Given the description of an element on the screen output the (x, y) to click on. 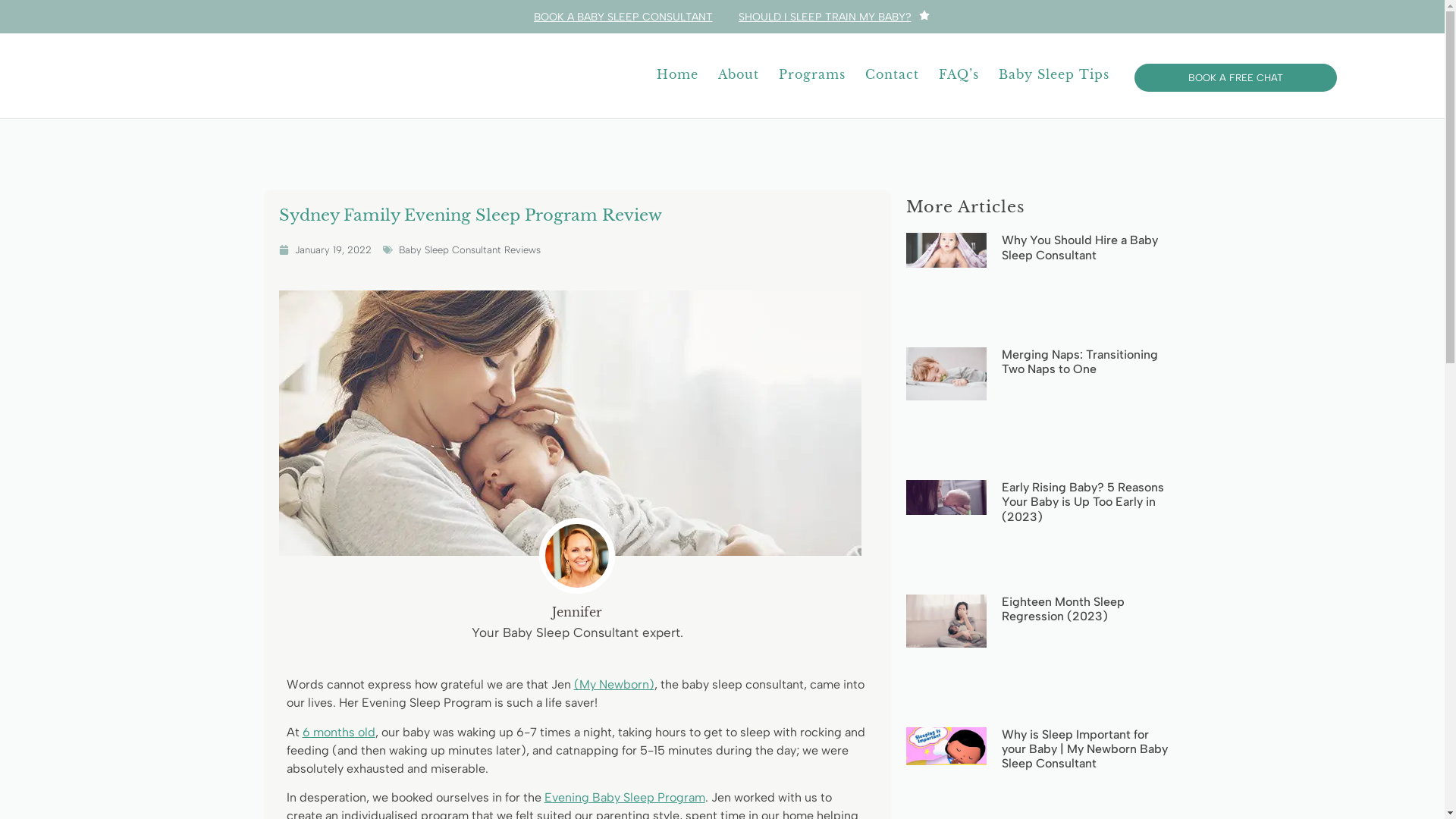
Evening Baby Sleep Program Element type: text (624, 797)
Home Element type: text (677, 74)
Contact Element type: text (891, 74)
SHOULD I SLEEP TRAIN MY BABY? Element type: text (824, 17)
(My Newborn) Element type: text (613, 684)
Eighteen Month Sleep Regression (2023) Element type: text (1062, 608)
January 19, 2022 Element type: text (325, 249)
Programs Element type: text (811, 74)
Baby Sleep Consultant Reviews Element type: text (469, 249)
6 months old Element type: text (337, 731)
Why You Should Hire a Baby Sleep Consultant Element type: text (1079, 246)
Baby Sleep Tips Element type: text (1053, 74)
About Element type: text (738, 74)
Merging Naps: Transitioning Two Naps to One Element type: text (1079, 361)
BOOK A BABY SLEEP CONSULTANT Element type: text (622, 17)
BOOK A FREE CHAT Element type: text (1235, 77)
